Given the description of an element on the screen output the (x, y) to click on. 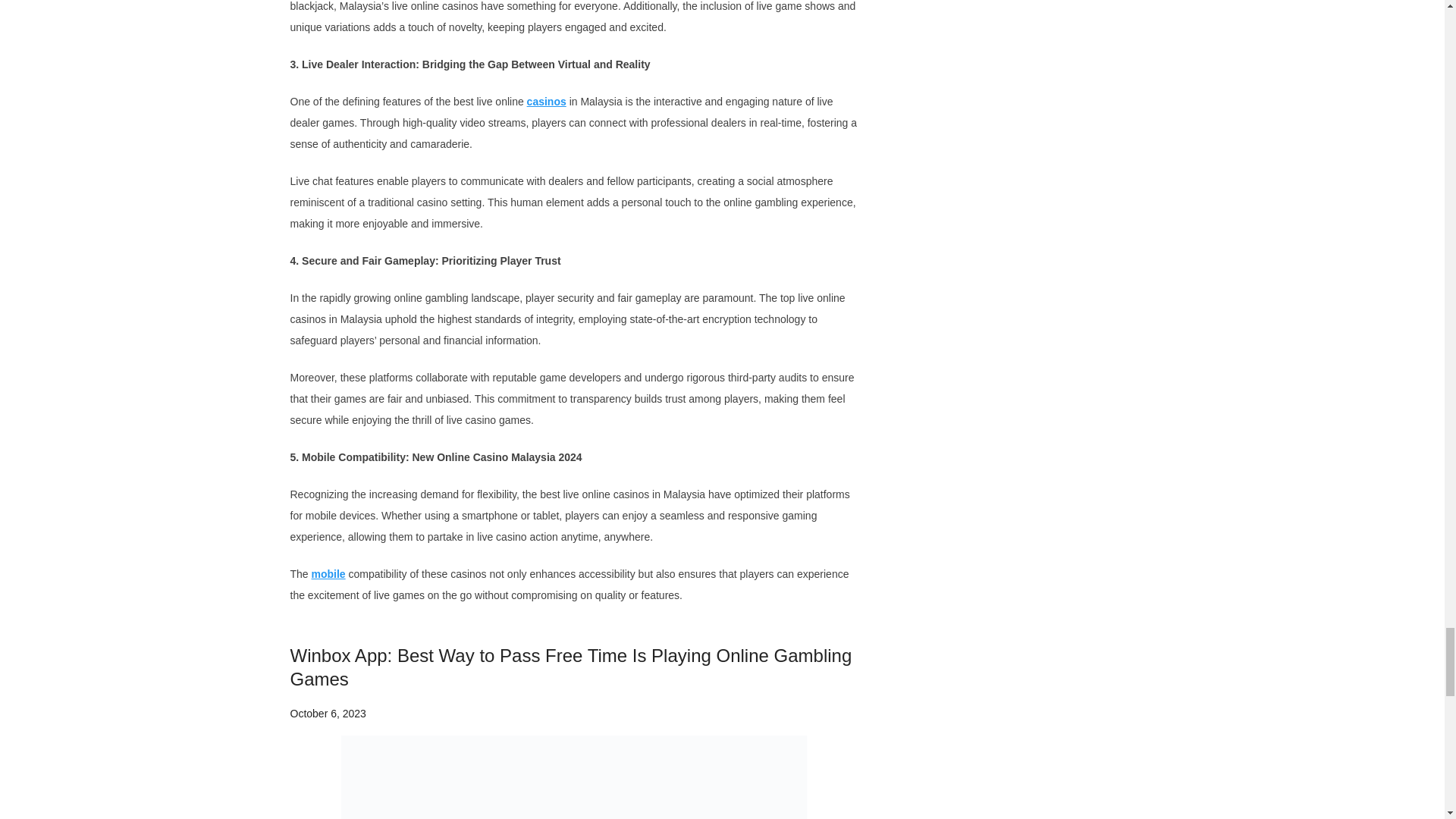
October 6, 2023 (327, 713)
mobile (328, 573)
casinos (546, 101)
